Given the description of an element on the screen output the (x, y) to click on. 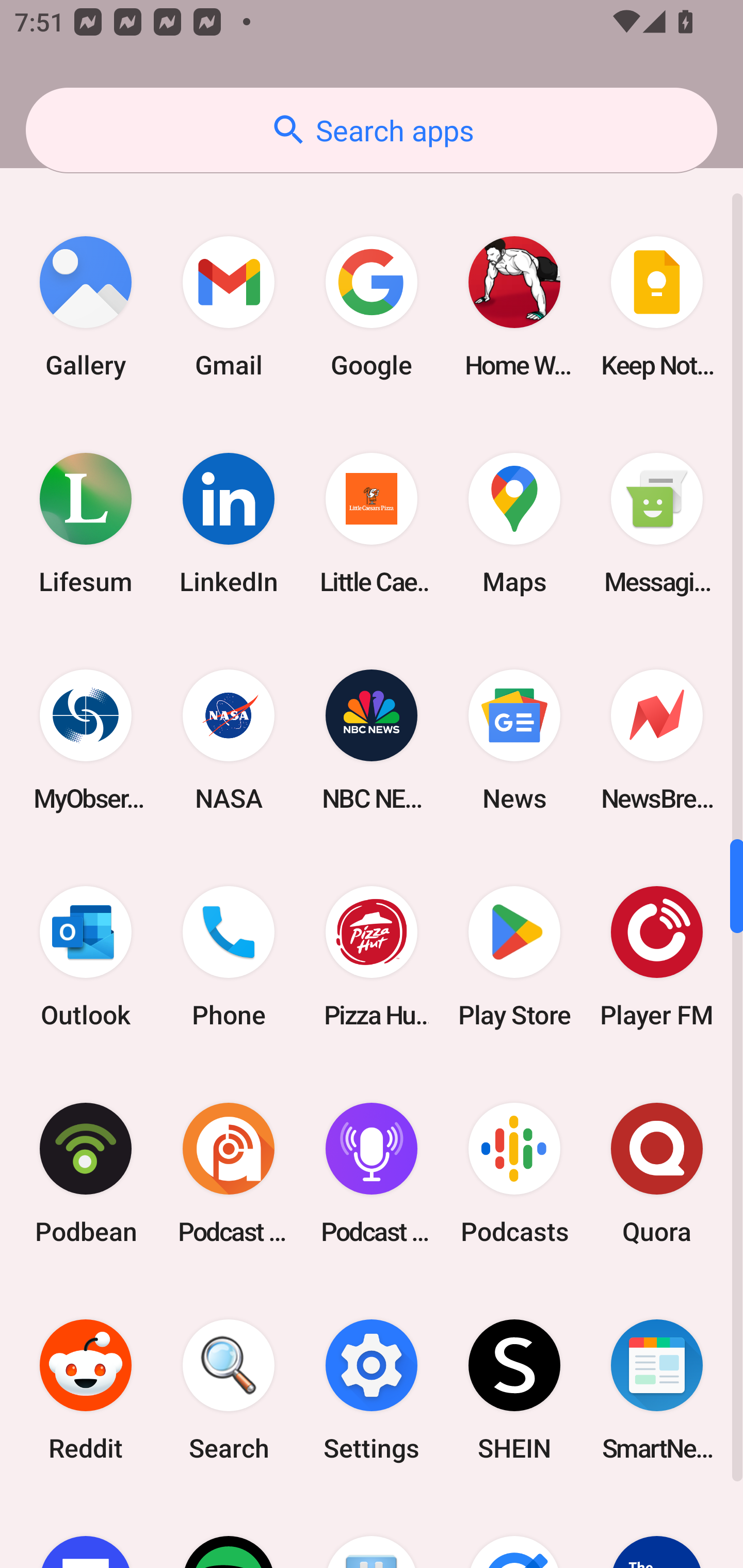
  Search apps (371, 130)
Gallery (85, 307)
Gmail (228, 307)
Google (371, 307)
Home Workout (514, 307)
Keep Notes (656, 307)
Lifesum (85, 523)
LinkedIn (228, 523)
Little Caesars Pizza (371, 523)
Maps (514, 523)
Messaging (656, 523)
MyObservatory (85, 739)
NASA (228, 739)
NBC NEWS (371, 739)
News (514, 739)
NewsBreak (656, 739)
Outlook (85, 956)
Phone (228, 956)
Pizza Hut HK & Macau (371, 956)
Play Store (514, 956)
Player FM (656, 956)
Podbean (85, 1172)
Podcast Addict (228, 1172)
Podcast Player (371, 1172)
Podcasts (514, 1172)
Quora (656, 1172)
Reddit (85, 1390)
Search (228, 1390)
Settings (371, 1390)
SHEIN (514, 1390)
SmartNews (656, 1390)
